Given the description of an element on the screen output the (x, y) to click on. 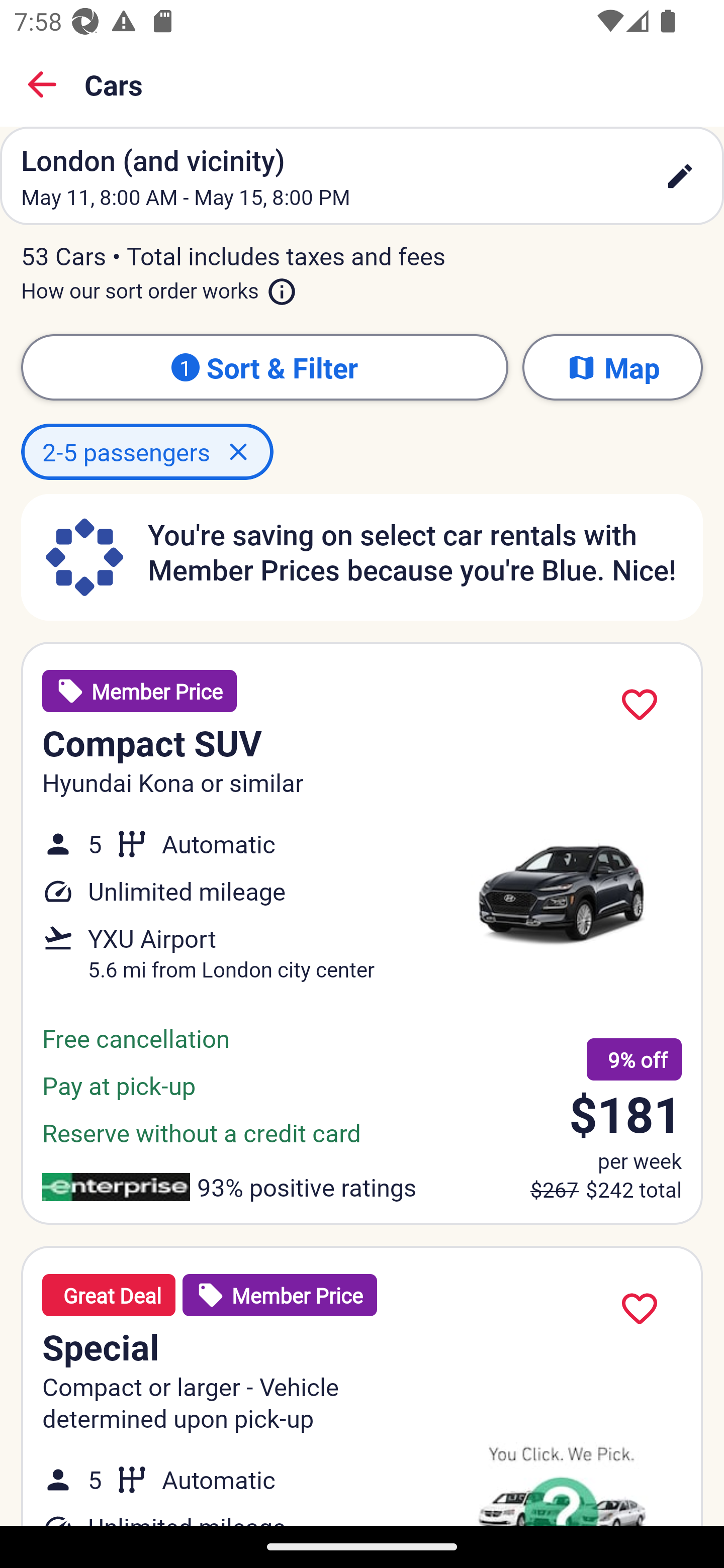
Back (42, 84)
edit (679, 175)
How our sort order works (158, 286)
1 Sort & Filter (264, 366)
Map (612, 366)
